Given the description of an element on the screen output the (x, y) to click on. 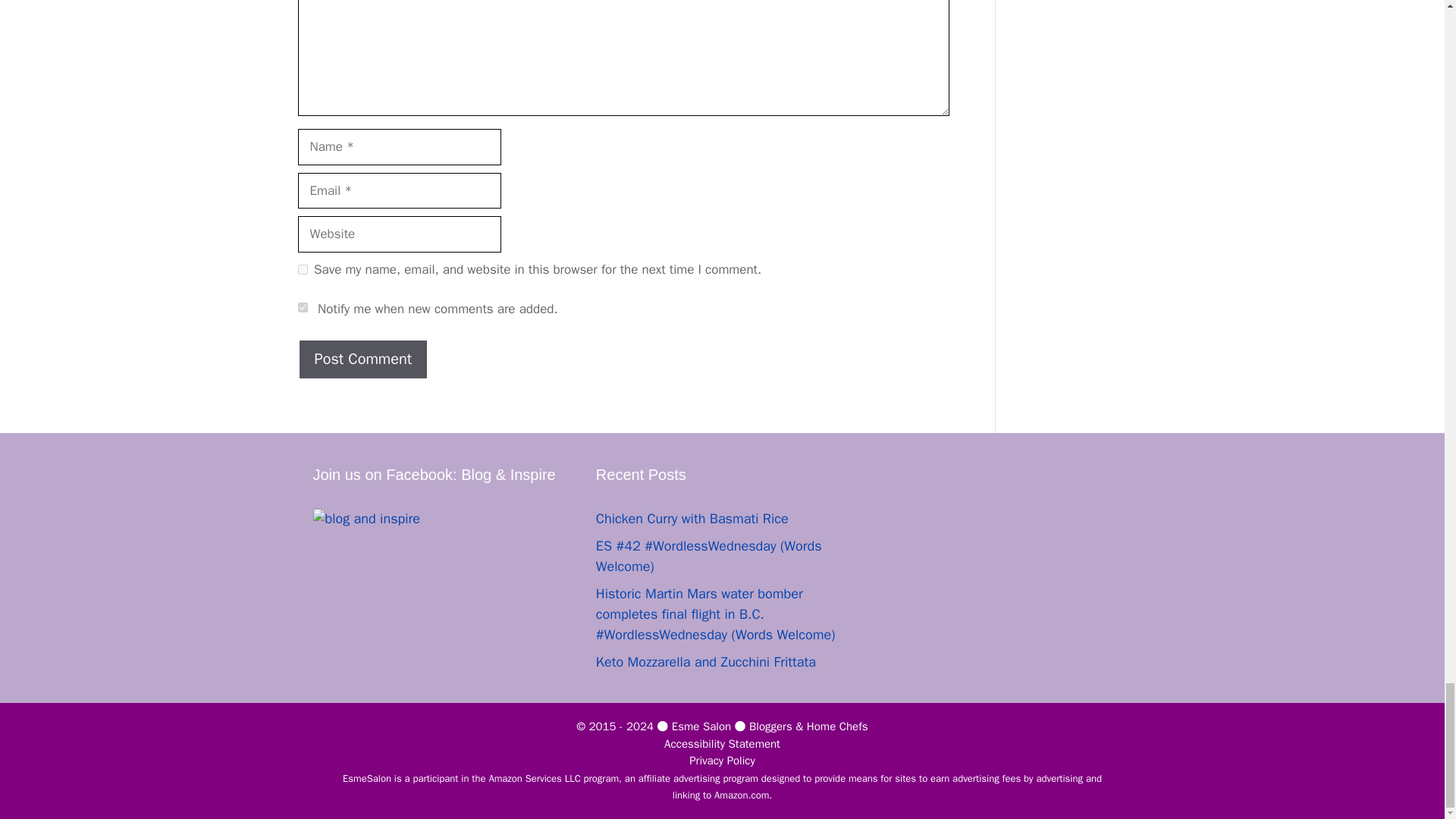
Blog and inspire Facebook group (438, 518)
yes (302, 269)
1 (302, 307)
Post Comment (362, 359)
